Given the description of an element on the screen output the (x, y) to click on. 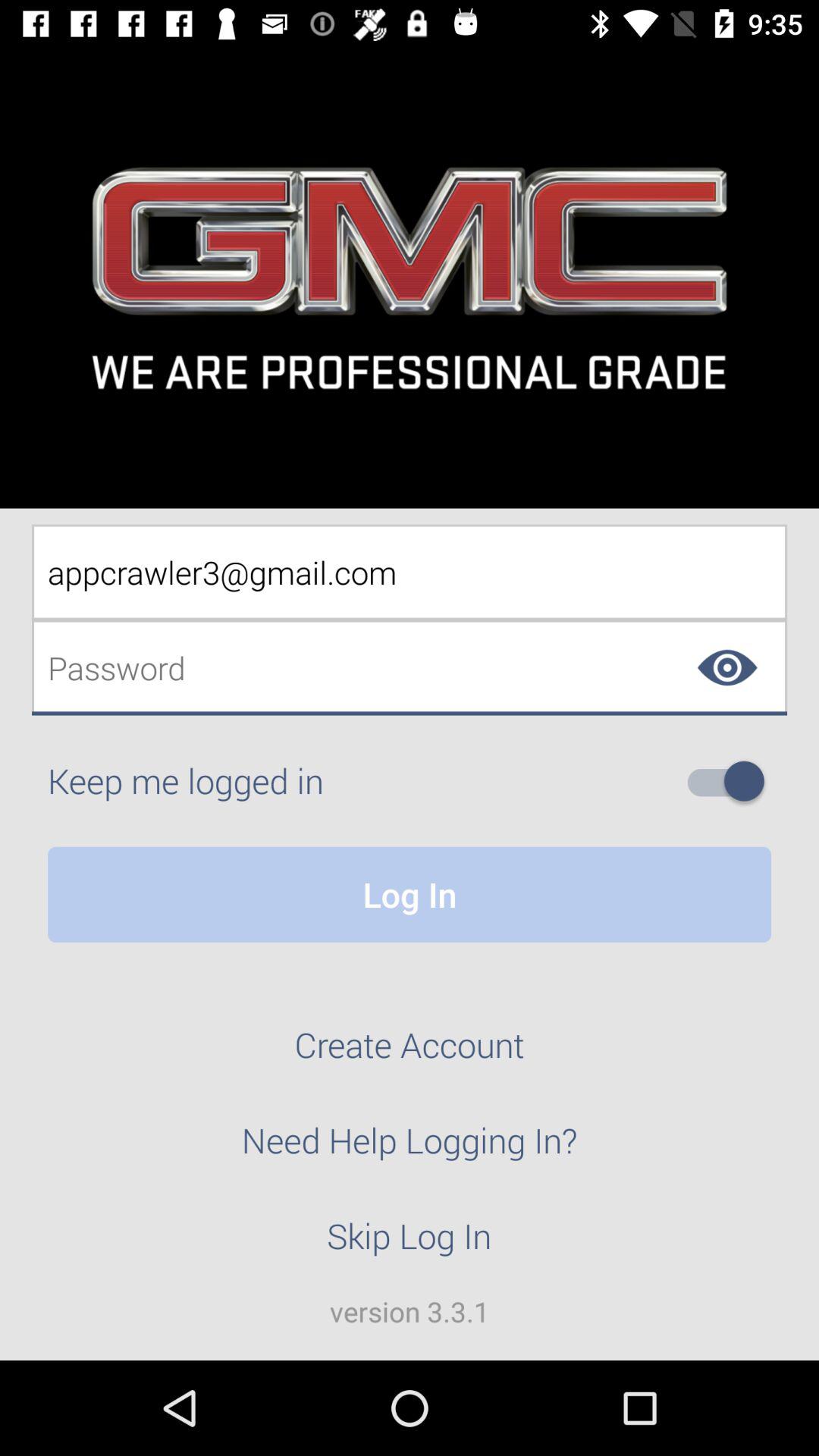
enter the password (409, 667)
